Given the description of an element on the screen output the (x, y) to click on. 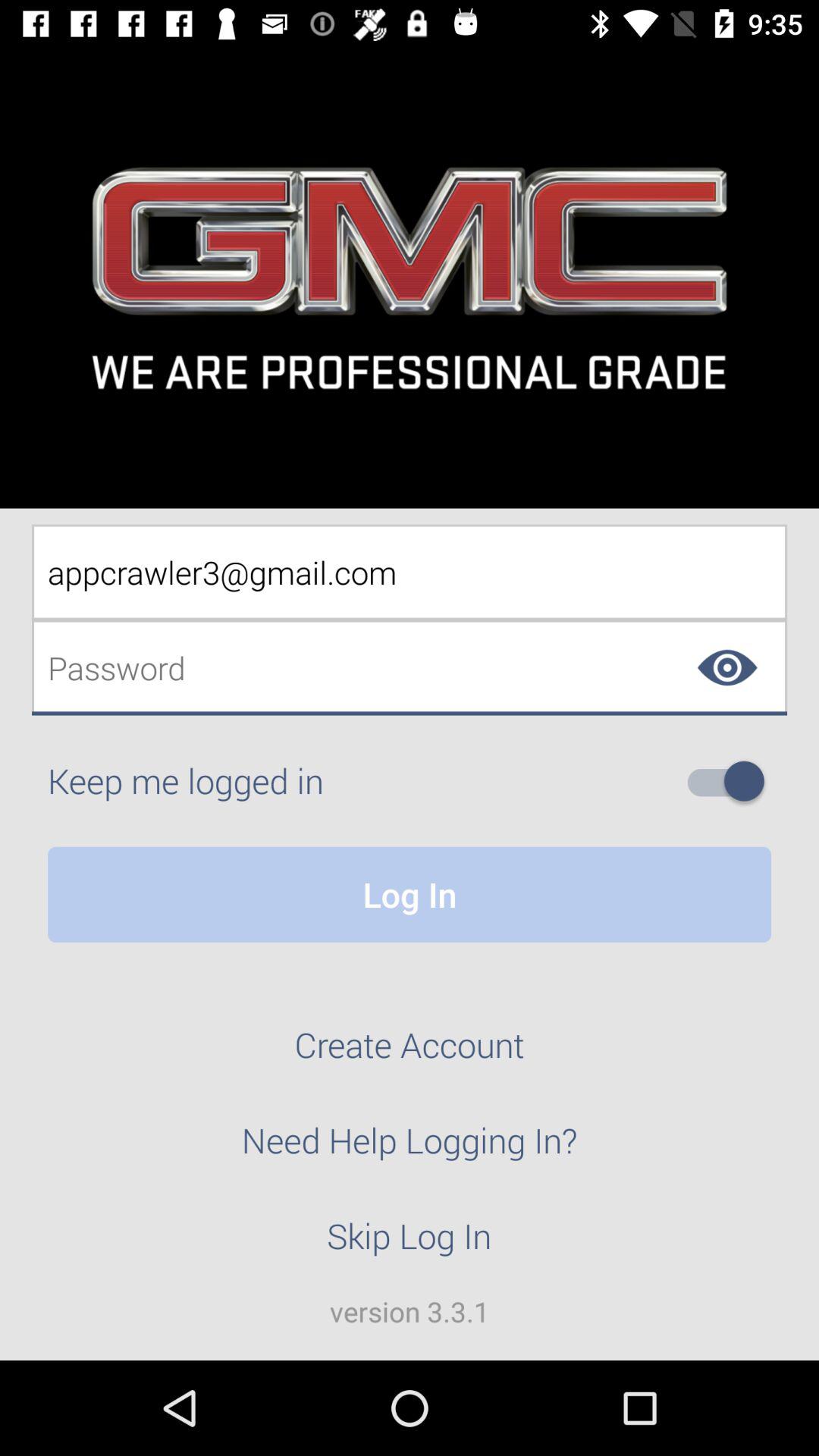
enter the password (409, 667)
